Given the description of an element on the screen output the (x, y) to click on. 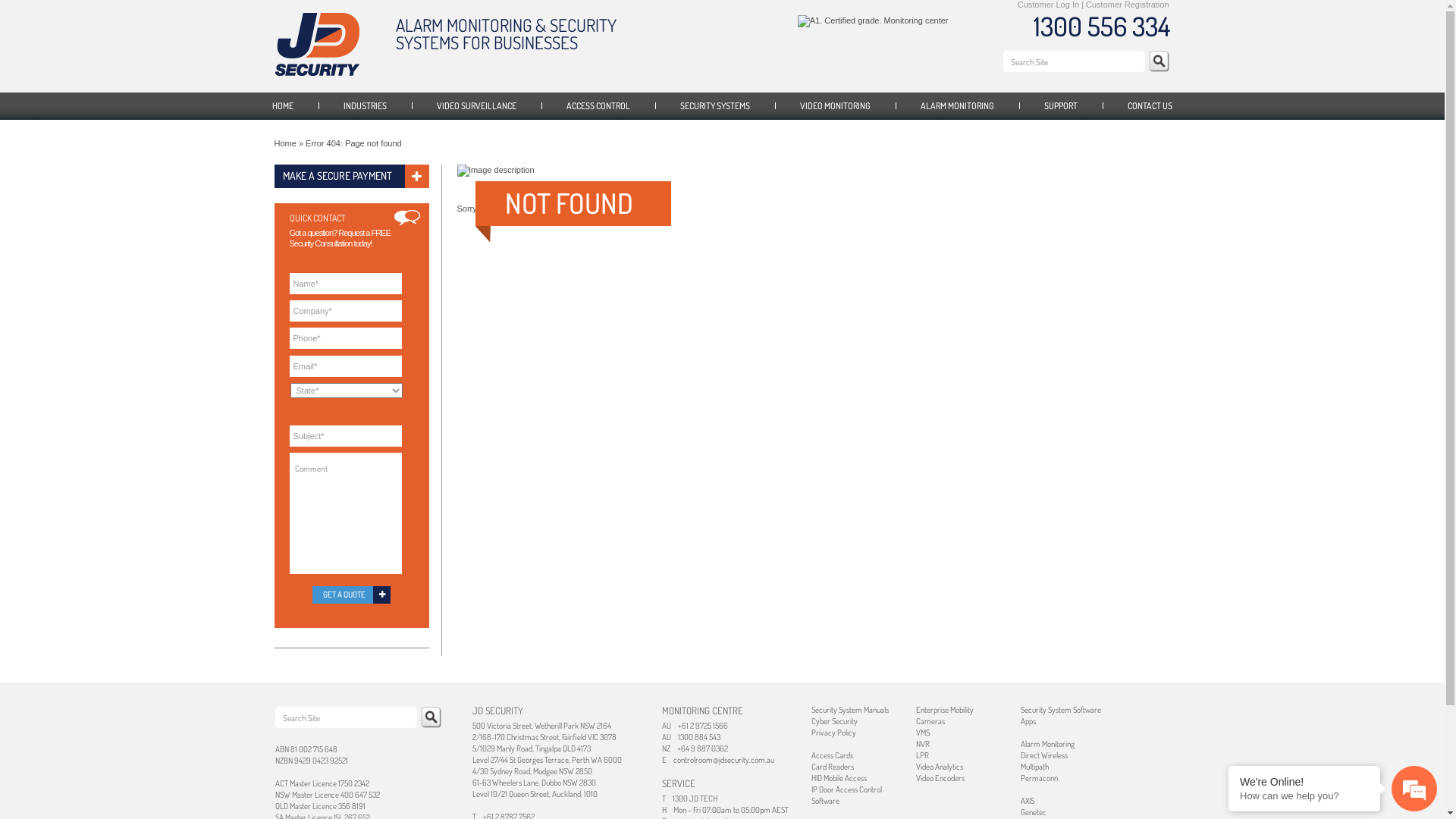
1300 556 334 Element type: text (1100, 25)
Search Element type: text (430, 717)
Enterprise Mobility Element type: text (944, 709)
Get a Quote Element type: text (351, 594)
ACCESS CONTROL Element type: text (598, 105)
Video Encoders Element type: text (940, 777)
Security System Manuals Element type: text (849, 709)
Privacy Policy Element type: text (833, 732)
Multipath Element type: text (1034, 766)
Permaconn Element type: text (1038, 777)
HOME Element type: text (282, 105)
Access Cards Element type: text (832, 754)
controlroom@jdsecurity.com.au Element type: text (723, 759)
LPR Element type: text (922, 754)
VIDEO SURVEILLANCE Element type: text (476, 105)
HID Mobile Access Element type: text (838, 777)
Cyber Security Element type: text (834, 720)
Video Analytics Element type: text (939, 766)
Apps Element type: text (1027, 720)
VMS Element type: text (922, 732)
IP Door Access Control Element type: text (846, 789)
Direct Wireless Element type: text (1043, 754)
INDUSTRIES Element type: text (364, 105)
ALARM MONITORING Element type: text (957, 105)
VIDEO MONITORING Element type: text (835, 105)
SUPPORT Element type: text (1060, 105)
AXIS Element type: text (1027, 800)
Security System Software Element type: text (1060, 709)
Genetec Element type: text (1033, 811)
JD Security Element type: text (316, 43)
SECURITY SYSTEMS Element type: text (714, 105)
Software Element type: text (825, 800)
Alarm Monitoring Element type: text (1047, 743)
Home Element type: text (285, 142)
Customer Log In Element type: text (1048, 4)
Search Element type: text (1158, 61)
NVR Element type: text (922, 743)
Cameras Element type: text (930, 720)
Customer Registration Element type: text (1126, 4)
Card Readers Element type: text (832, 766)
CONTACT US Element type: text (1149, 105)
MAKE A SECURE PAYMENT Element type: text (351, 176)
